Given the description of an element on the screen output the (x, y) to click on. 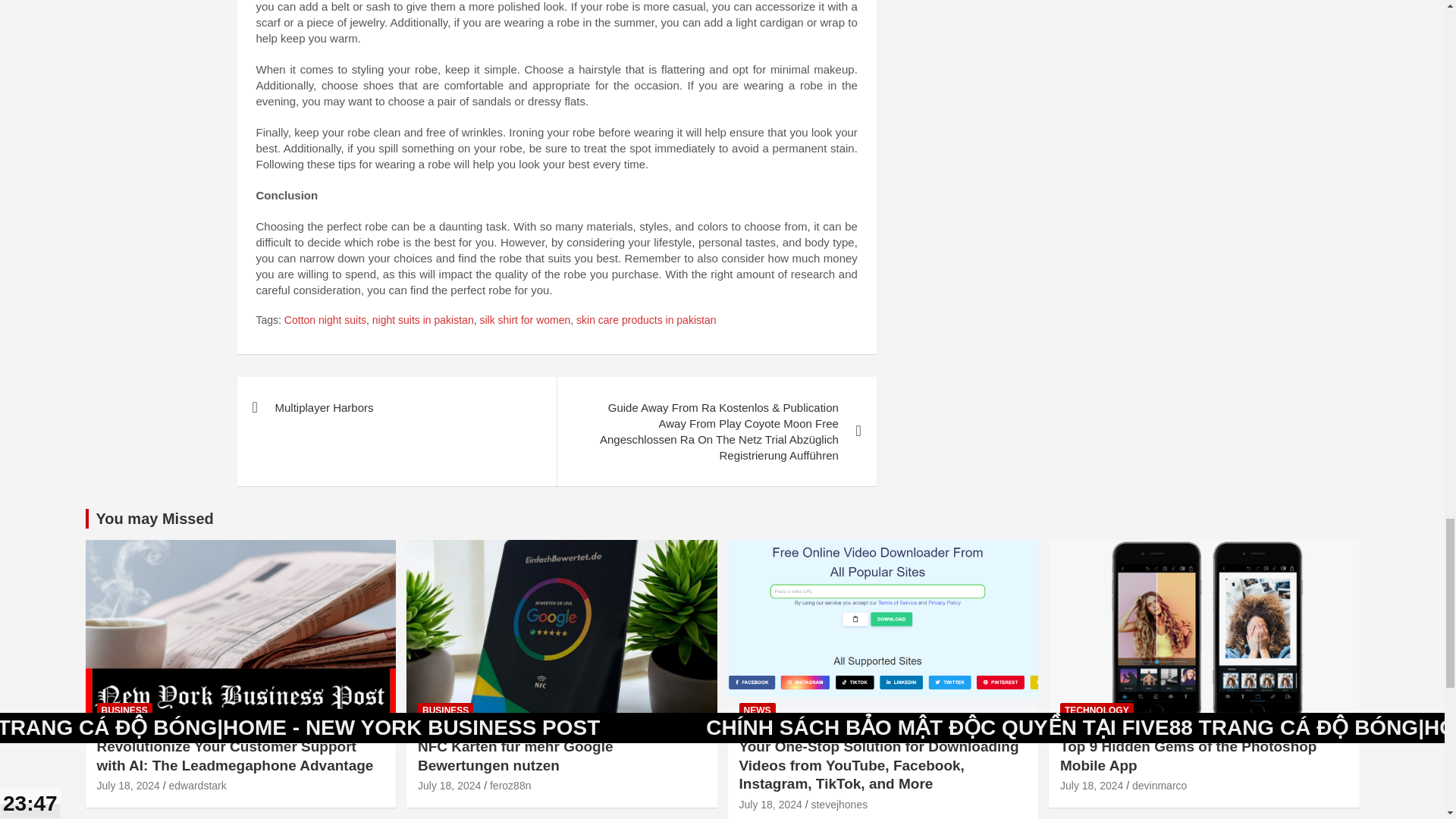
silk shirt for women (524, 320)
Top 9 Hidden Gems of the Photoshop Mobile App (1090, 785)
Cotton night suits (324, 320)
Multiplayer Harbors (395, 407)
night suits in pakistan (423, 320)
skin care products in pakistan (646, 320)
